Given the description of an element on the screen output the (x, y) to click on. 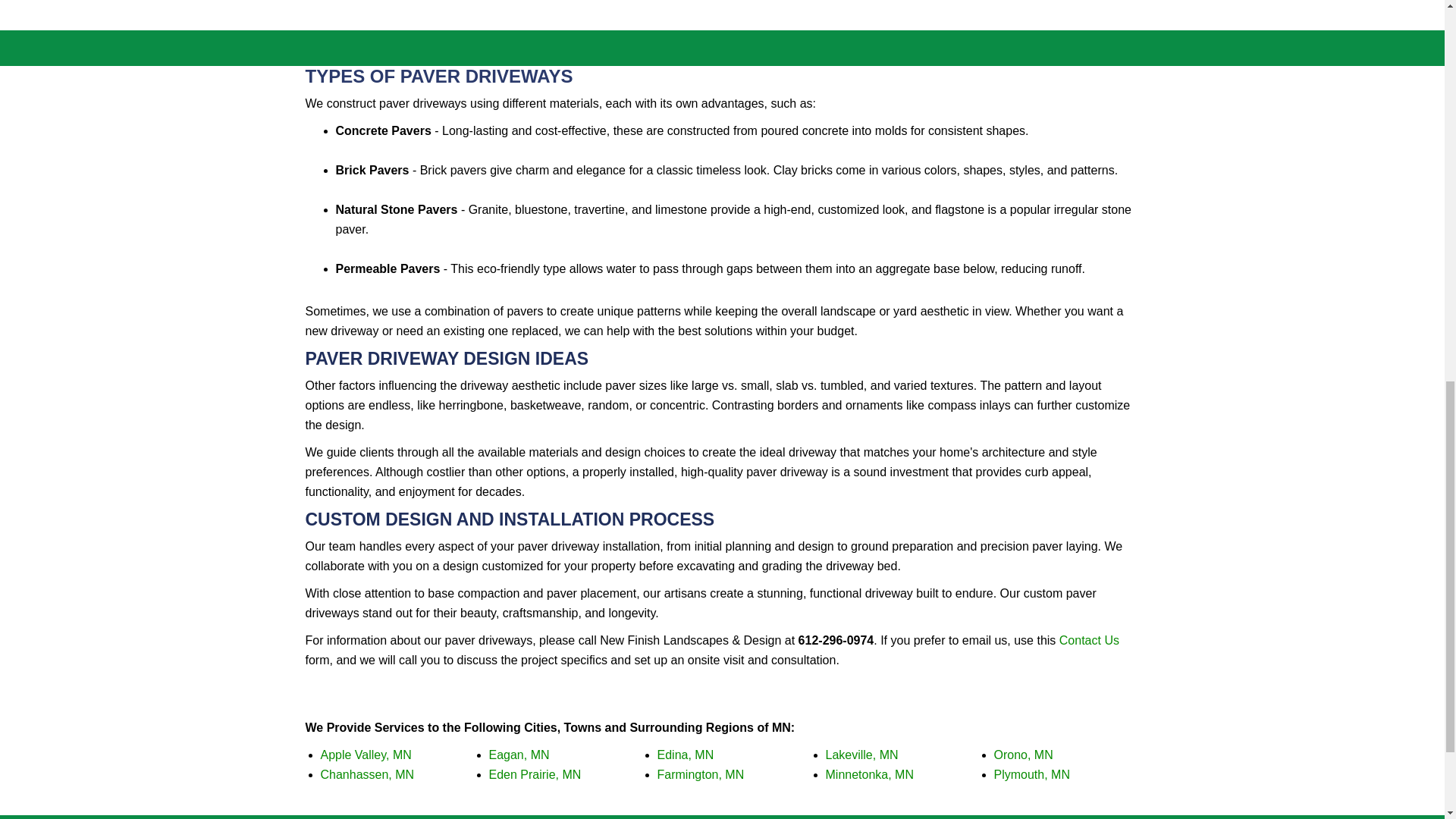
Eden Prairie, MN (533, 774)
Eagan, MN (517, 754)
Apple Valley, MN (365, 754)
Edina, MN (684, 754)
Chanhassen, MN (366, 774)
Contact Us (1089, 640)
Farmington, MN (700, 774)
